Given the description of an element on the screen output the (x, y) to click on. 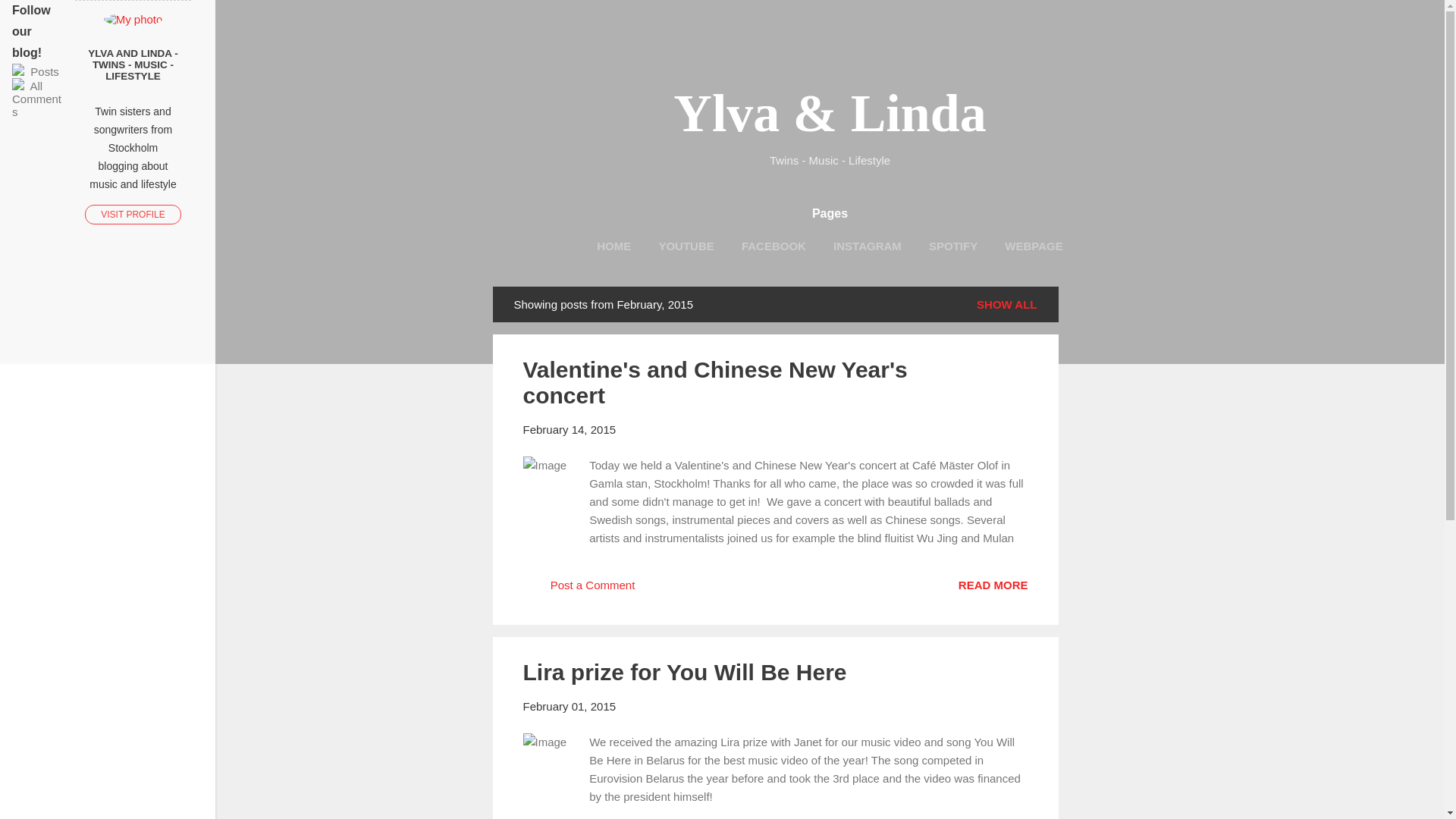
SHOW ALL (1006, 303)
WEBPAGE (1033, 246)
INSTAGRAM (867, 246)
February 01, 2015 (568, 706)
YOUTUBE (685, 246)
FACEBOOK (773, 246)
Post a Comment (578, 590)
Valentine's and Chinese New Year's concert (992, 584)
Lira prize for You Will Be Here (684, 672)
VISIT PROFILE (132, 214)
